Given the description of an element on the screen output the (x, y) to click on. 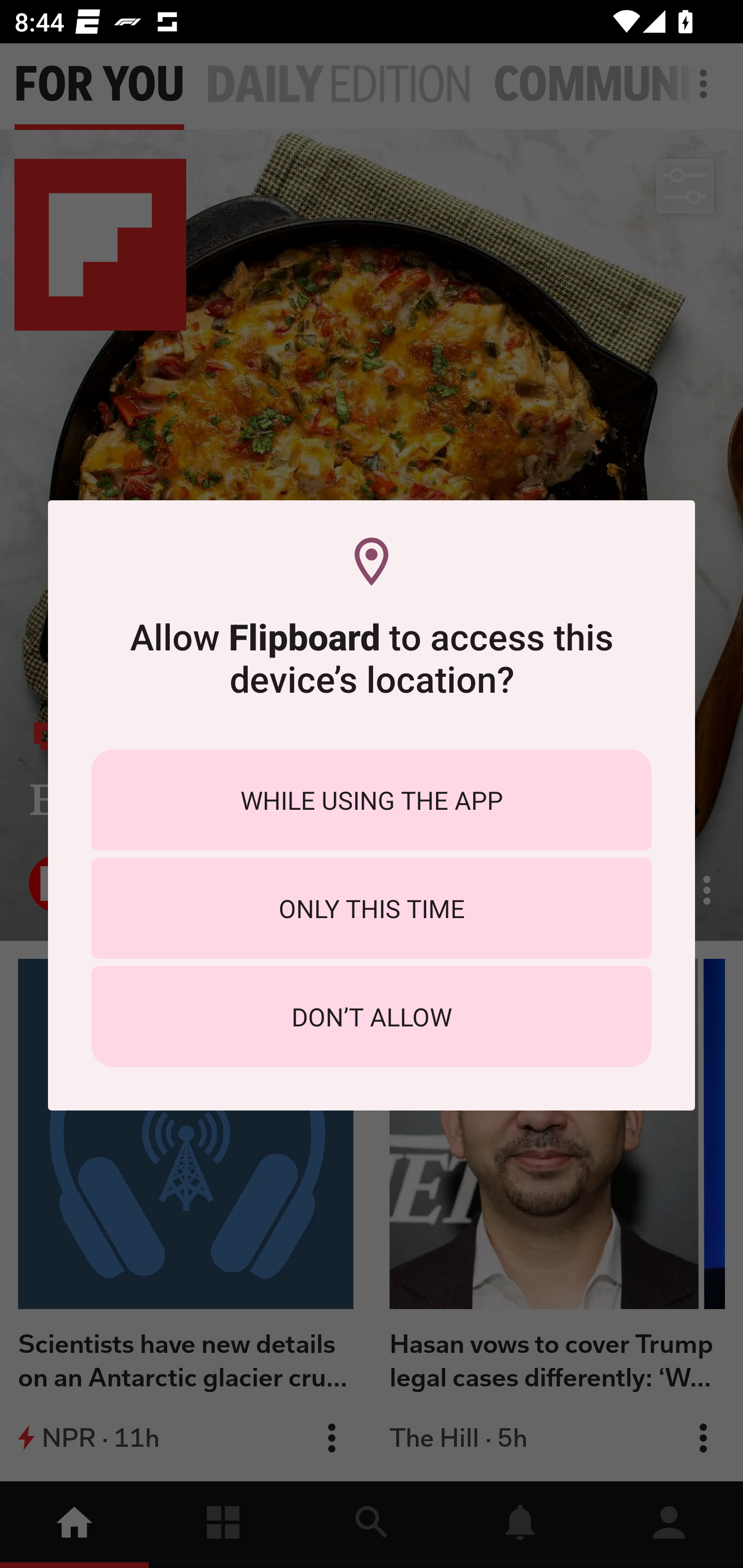
WHILE USING THE APP (371, 799)
ONLY THIS TIME (371, 908)
DON’T ALLOW (371, 1016)
